Given the description of an element on the screen output the (x, y) to click on. 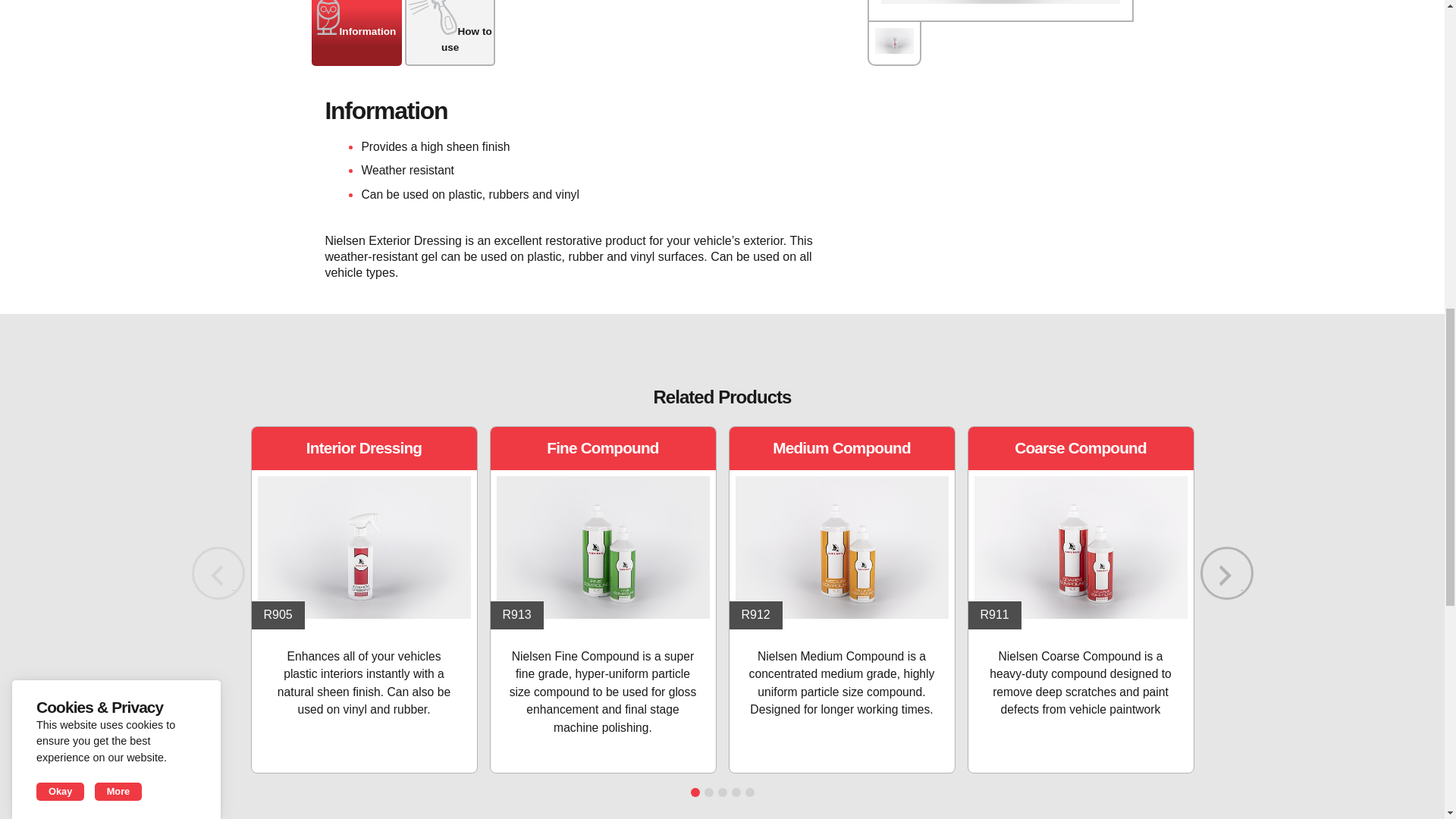
Coarse Compound 5 (1080, 547)
Fine Compound 3 (602, 547)
Medium Compound 4 (842, 547)
Interior Dressing 2 (363, 547)
